Given the description of an element on the screen output the (x, y) to click on. 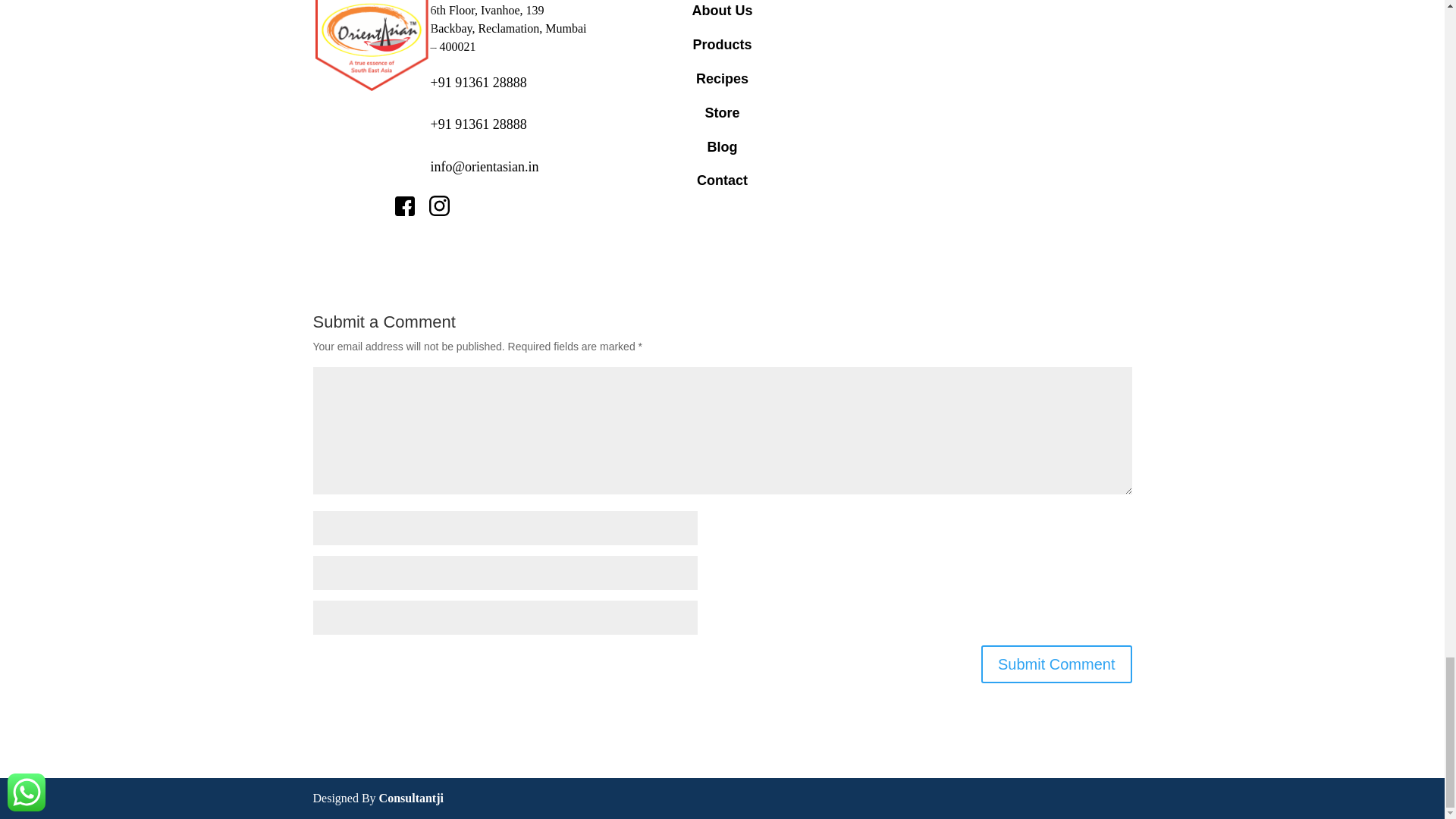
About Us (721, 10)
Blog (721, 146)
Consultantji (411, 797)
Products (722, 44)
Submit Comment (1056, 664)
Contact (722, 180)
Submit Comment (1056, 664)
Store (721, 112)
Recipes (721, 78)
